Given the description of an element on the screen output the (x, y) to click on. 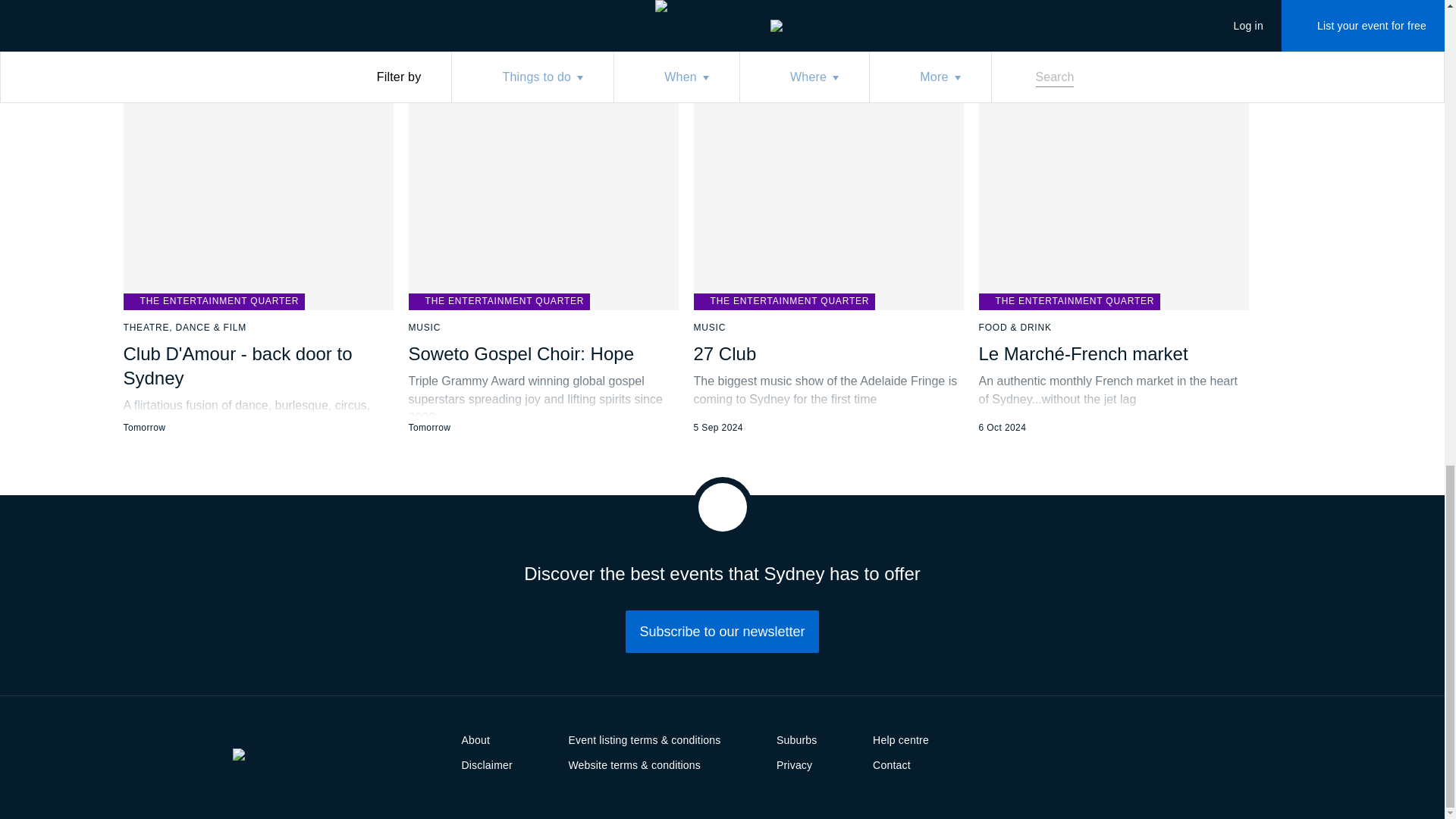
THE ENTERTAINMENT QUARTER (784, 301)
THE ENTERTAINMENT QUARTER (498, 301)
See all (805, 4)
THE ENTERTAINMENT QUARTER (213, 301)
Club D'Amour - back door to Sydney (237, 365)
MUSIC (424, 328)
Soweto Gospel Choir: Hope (520, 353)
